Given the description of an element on the screen output the (x, y) to click on. 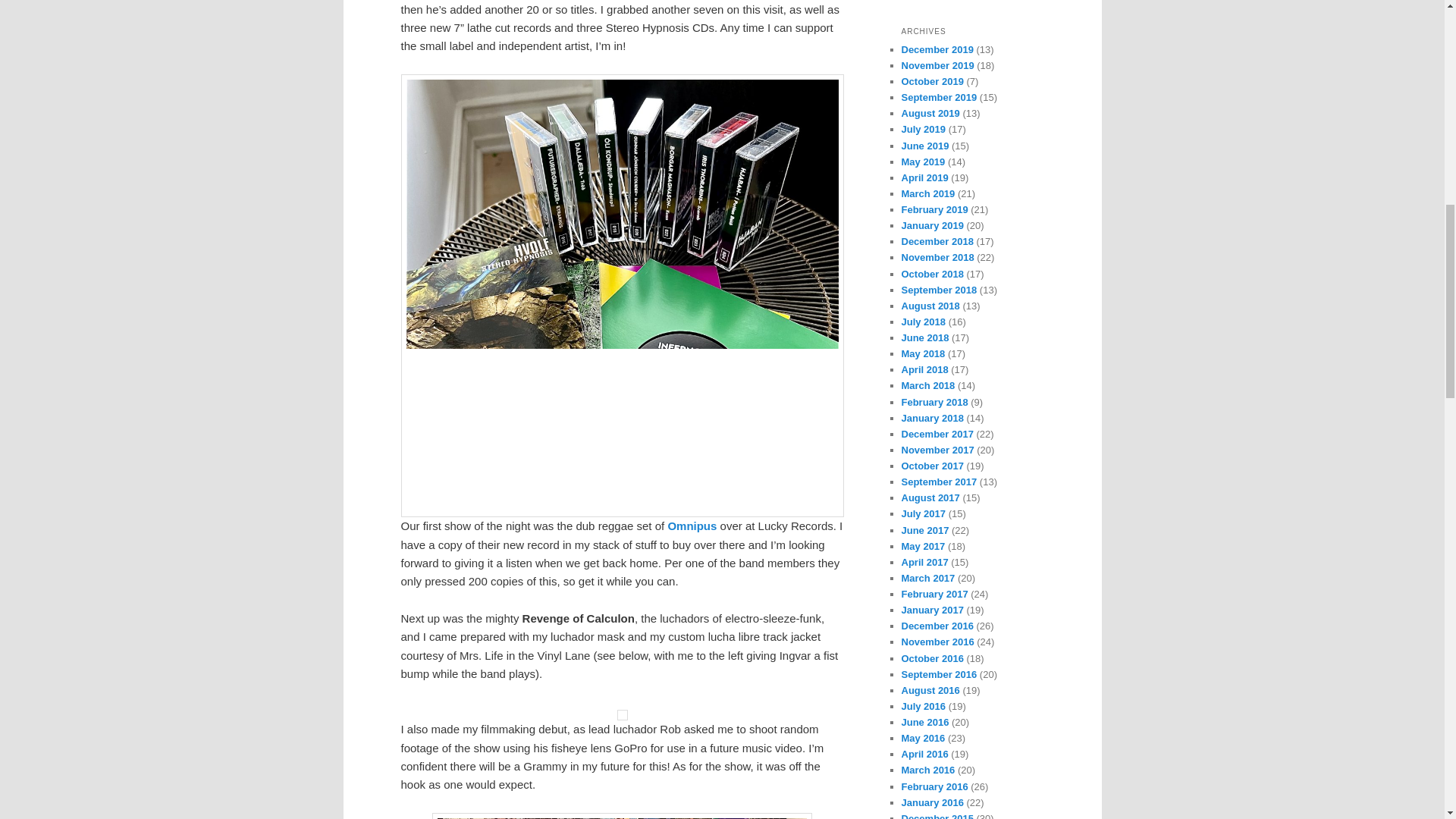
November 2019 (937, 65)
July 2019 (922, 129)
April 2019 (924, 177)
December 2019 (936, 49)
June 2019 (925, 145)
September 2019 (938, 97)
October 2019 (931, 81)
August 2019 (930, 112)
May 2019 (922, 161)
Omnipus (691, 525)
